Given the description of an element on the screen output the (x, y) to click on. 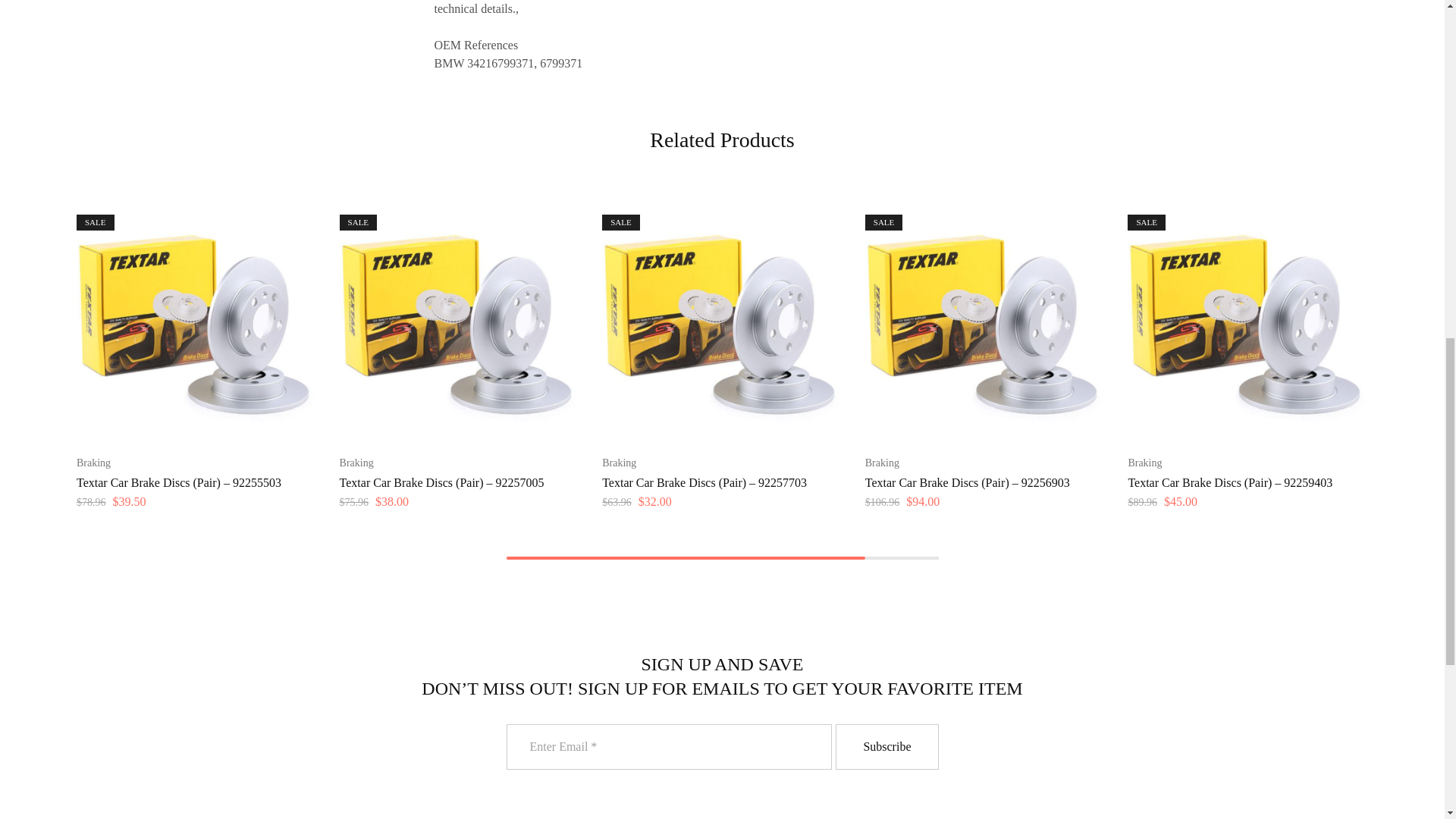
Subscribe (886, 746)
